Given the description of an element on the screen output the (x, y) to click on. 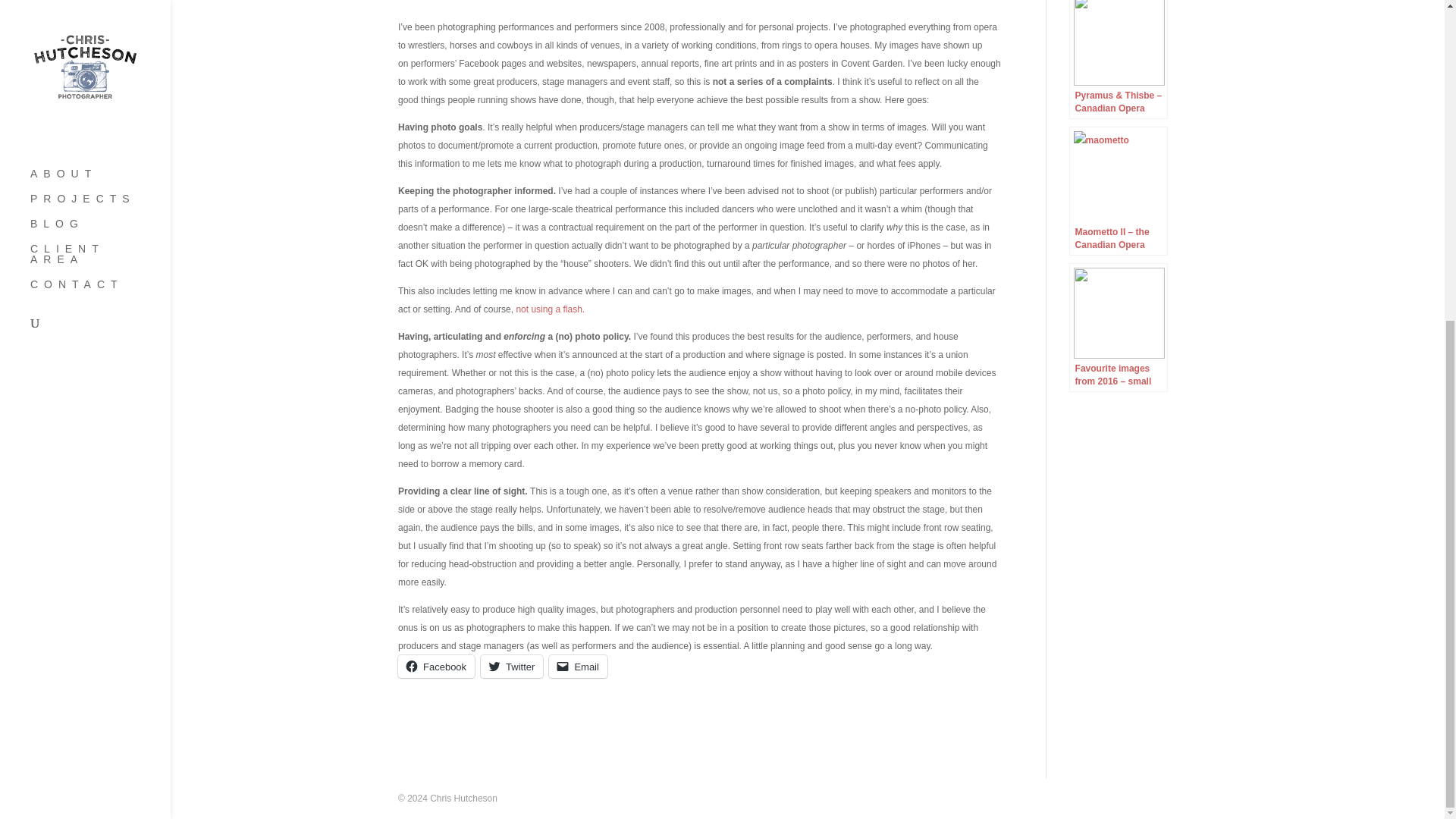
Click to share on Twitter (511, 666)
Twitter (511, 666)
Facebook (435, 666)
not using a flash. (550, 308)
Email (577, 666)
Click to email a link to a friend (577, 666)
Click to share on Facebook (435, 666)
